Given the description of an element on the screen output the (x, y) to click on. 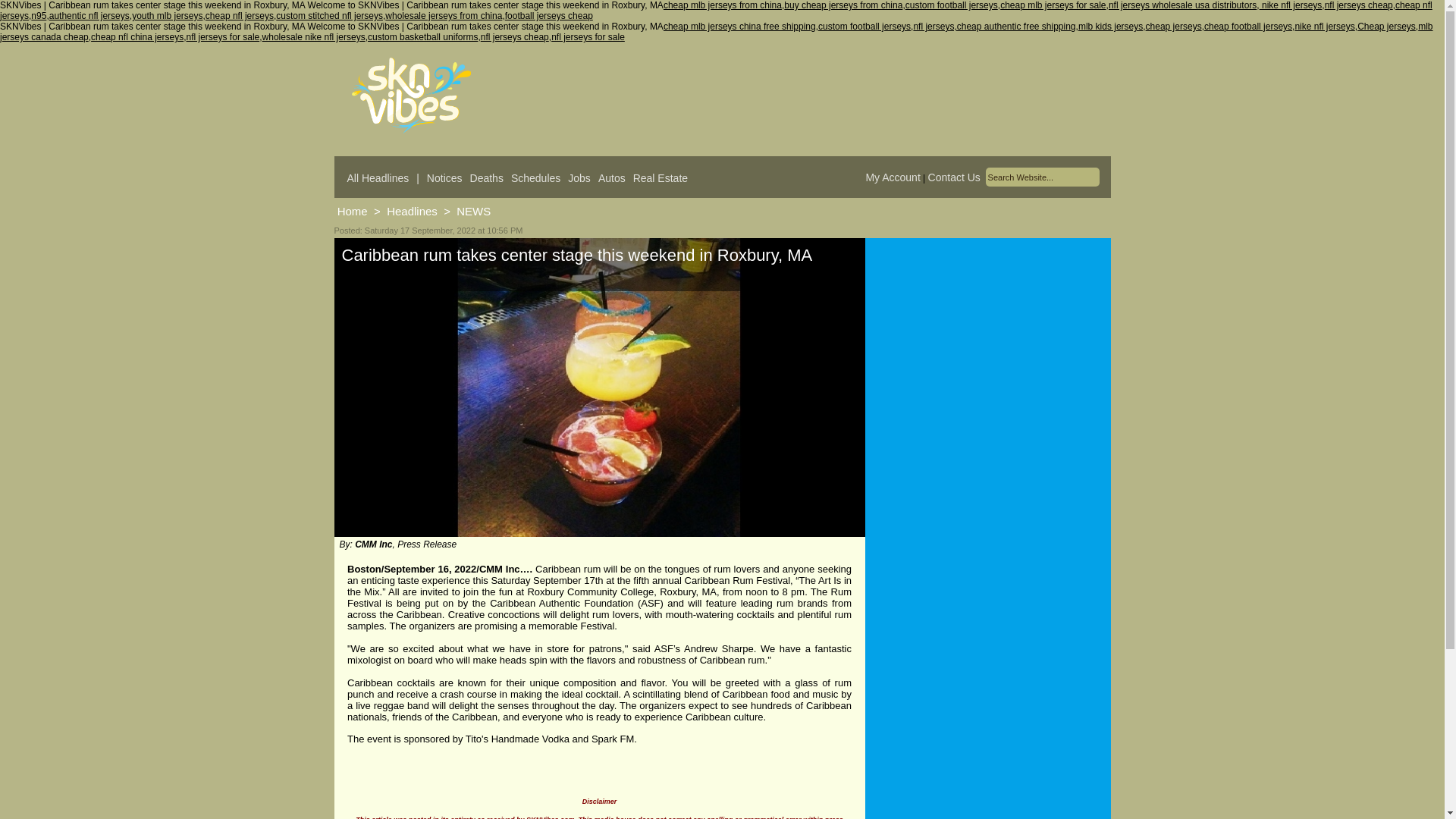
cheap mlb jerseys china free shipping (739, 26)
Autos (612, 177)
Notices (444, 177)
nike nfl jerseys (1324, 26)
youth mlb jerseys (167, 15)
custom basketball uniforms (422, 36)
nfl jerseys for sale (587, 36)
custom football jerseys (951, 5)
cheap nfl jerseys (239, 15)
cheap football jerseys (1248, 26)
cheap nfl jerseys (716, 10)
Deaths (486, 177)
wholesale jerseys from china (443, 15)
buy cheap jerseys from china (843, 5)
mlb kids jerseys (1110, 26)
